Given the description of an element on the screen output the (x, y) to click on. 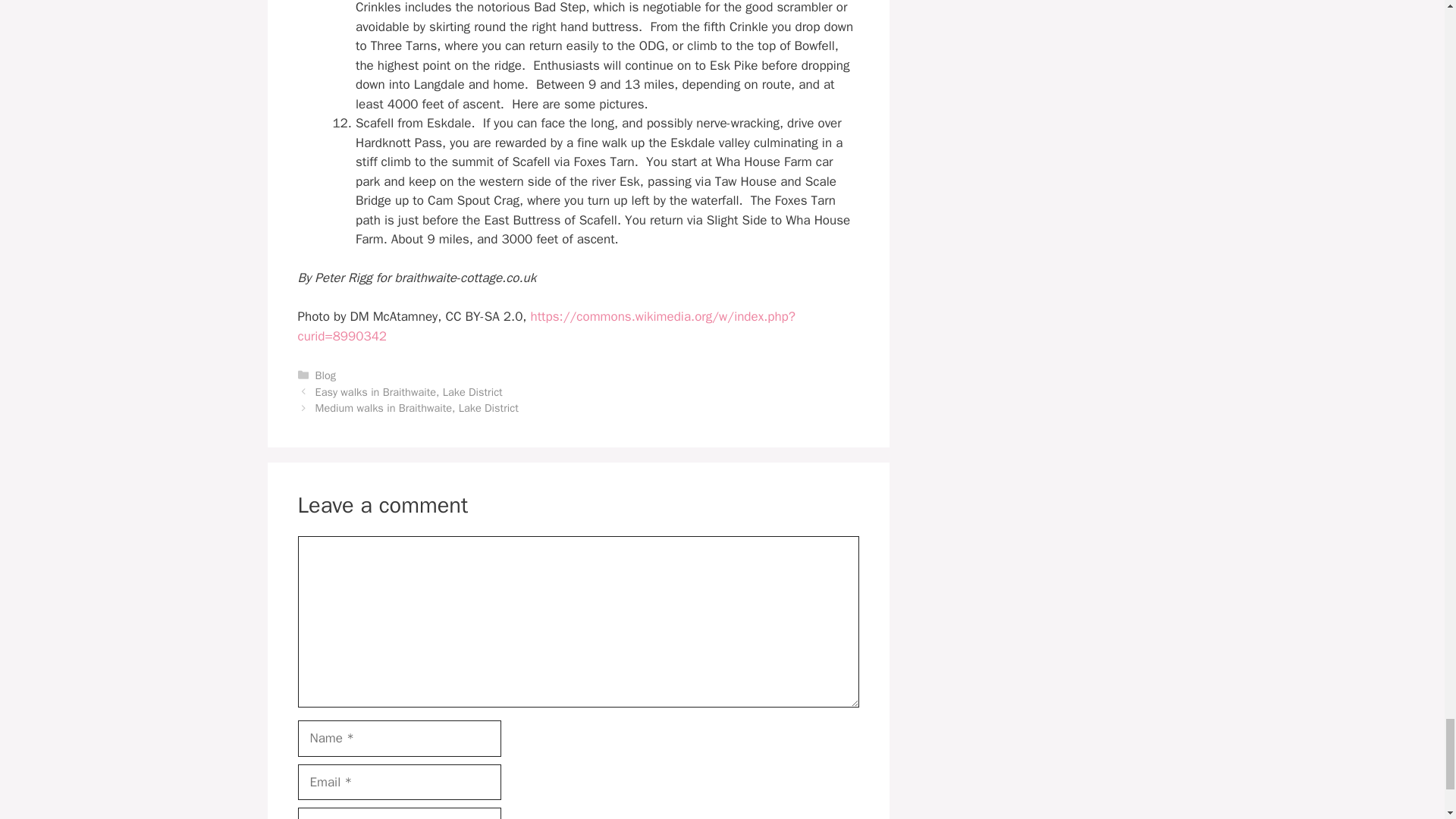
Medium walks in Braithwaite, Lake District (416, 407)
Blog (325, 375)
Easy walks in Braithwaite, Lake District (408, 391)
